Given the description of an element on the screen output the (x, y) to click on. 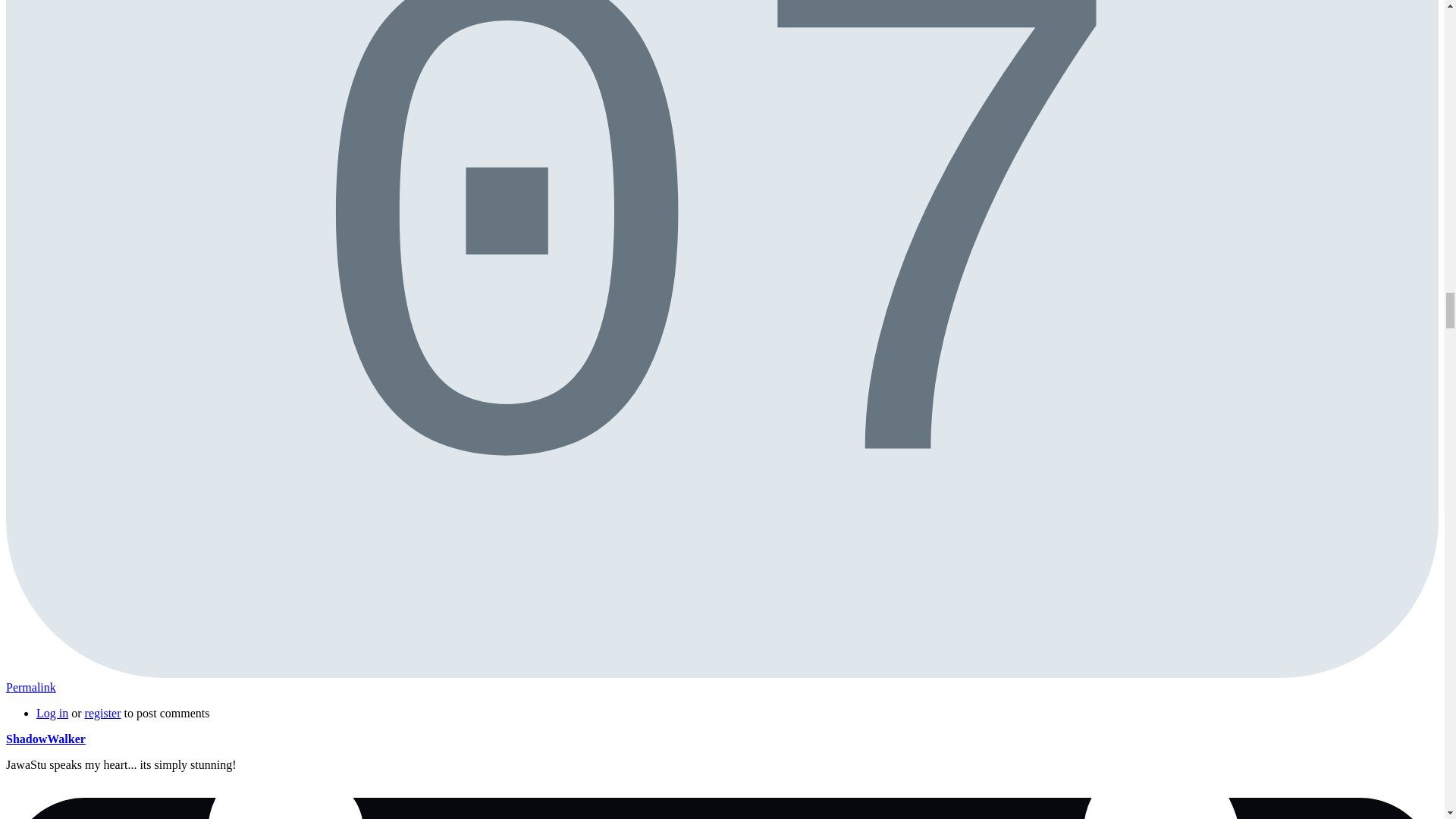
register (102, 712)
Log in (52, 712)
View user profile. (45, 738)
ShadowWalker (45, 738)
Permalink (30, 686)
